Given the description of an element on the screen output the (x, y) to click on. 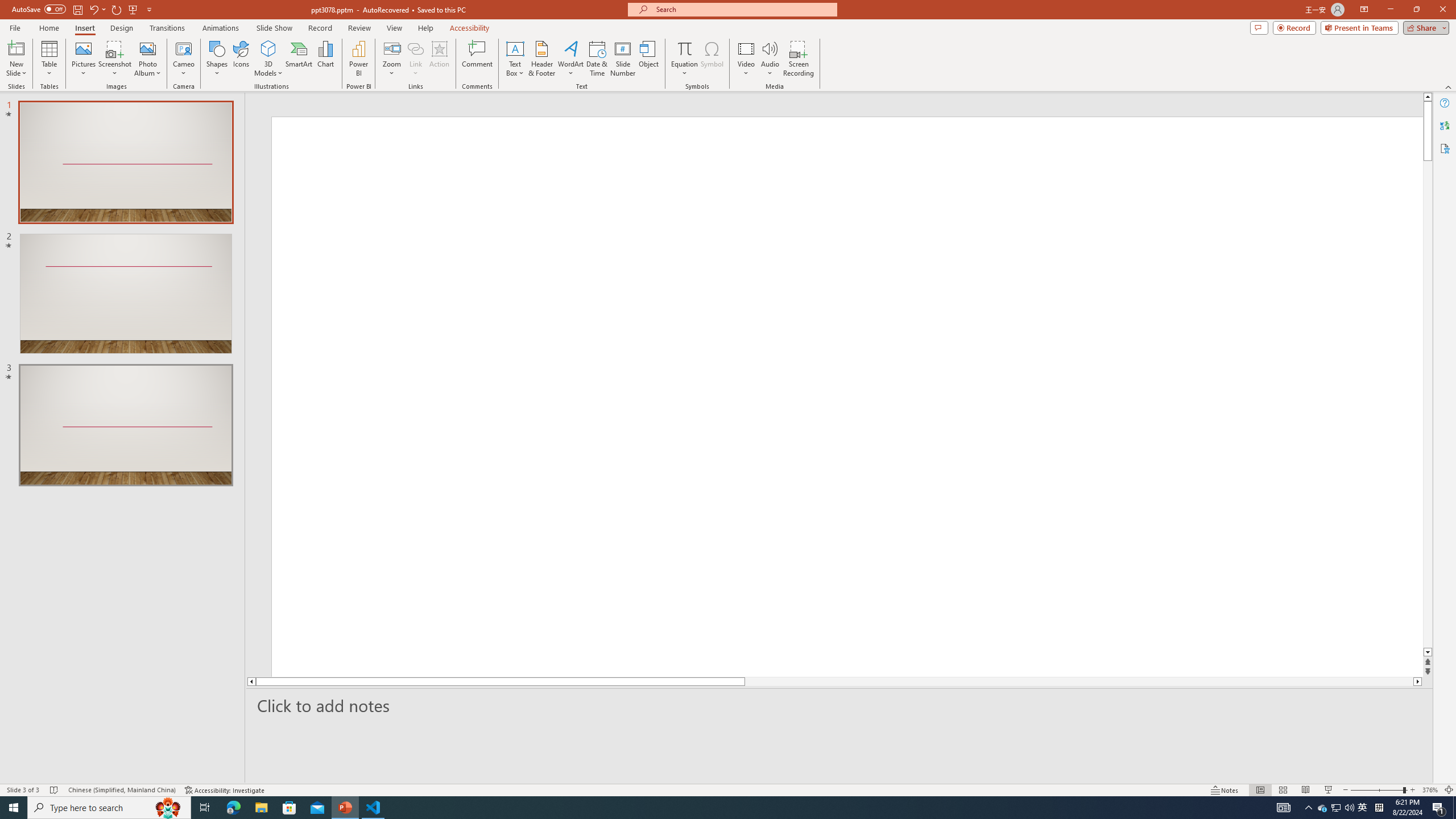
New Photo Album... (147, 48)
3D Models (268, 58)
Pictures (83, 58)
3D Models (268, 48)
Chart... (325, 58)
Power BI (358, 58)
